Given the description of an element on the screen output the (x, y) to click on. 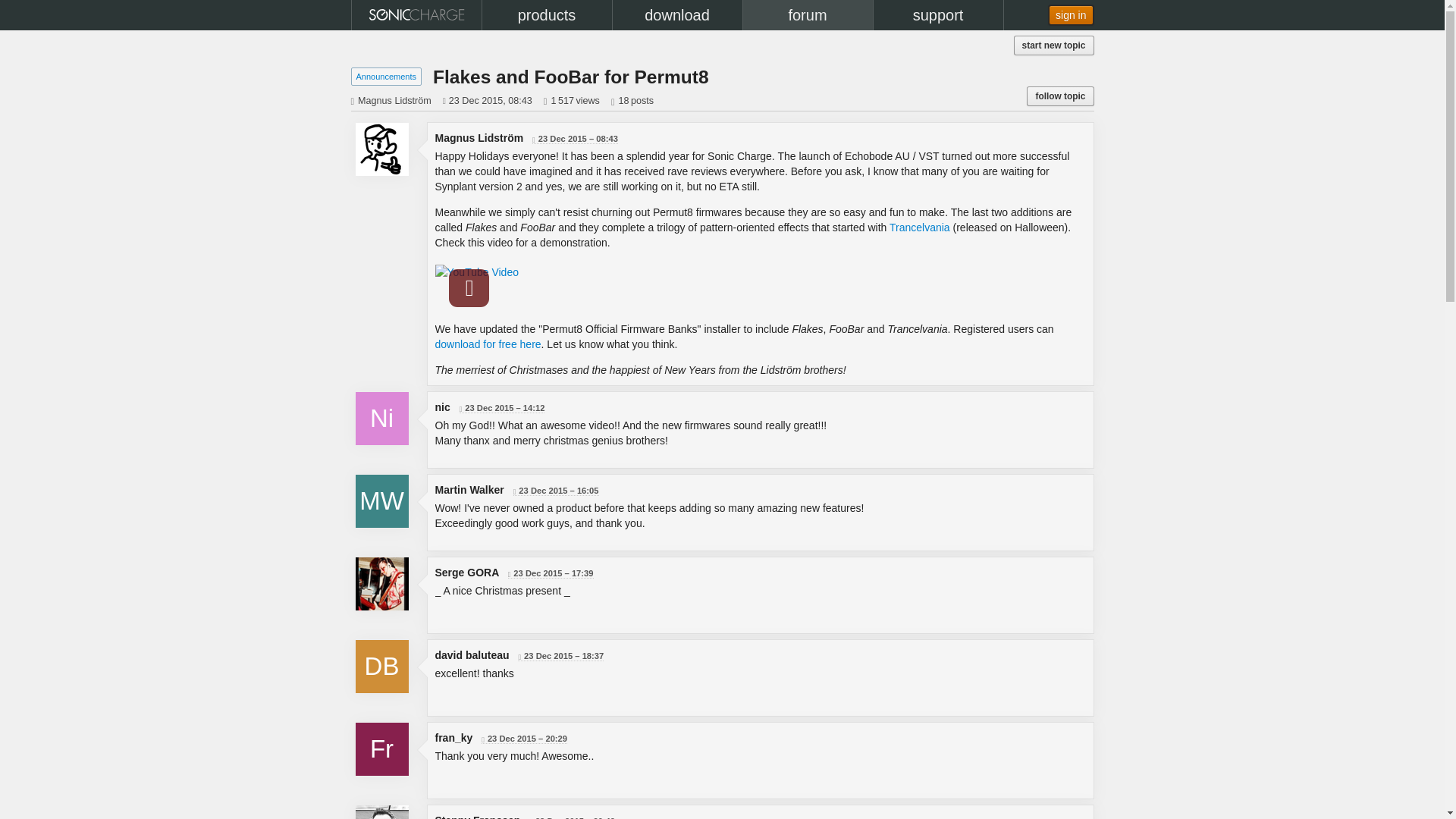
forum (807, 15)
download for free here (488, 344)
support (938, 15)
Announcements (386, 76)
download (677, 15)
follow topic (1059, 96)
start new topic (1053, 45)
Trancelvania (919, 227)
sign in (1070, 14)
products (546, 15)
